Given the description of an element on the screen output the (x, y) to click on. 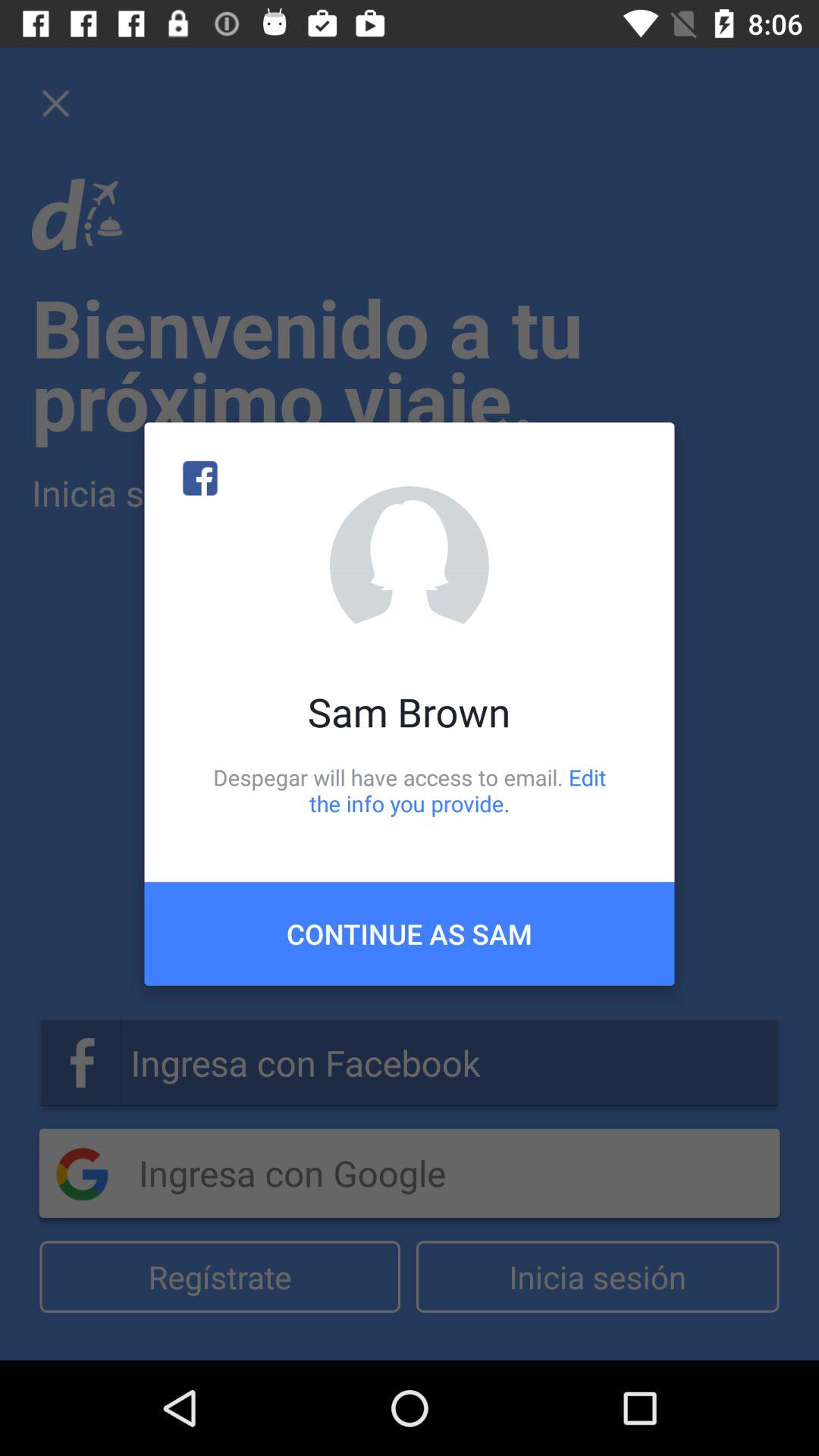
turn off the icon above the continue as sam (409, 790)
